Given the description of an element on the screen output the (x, y) to click on. 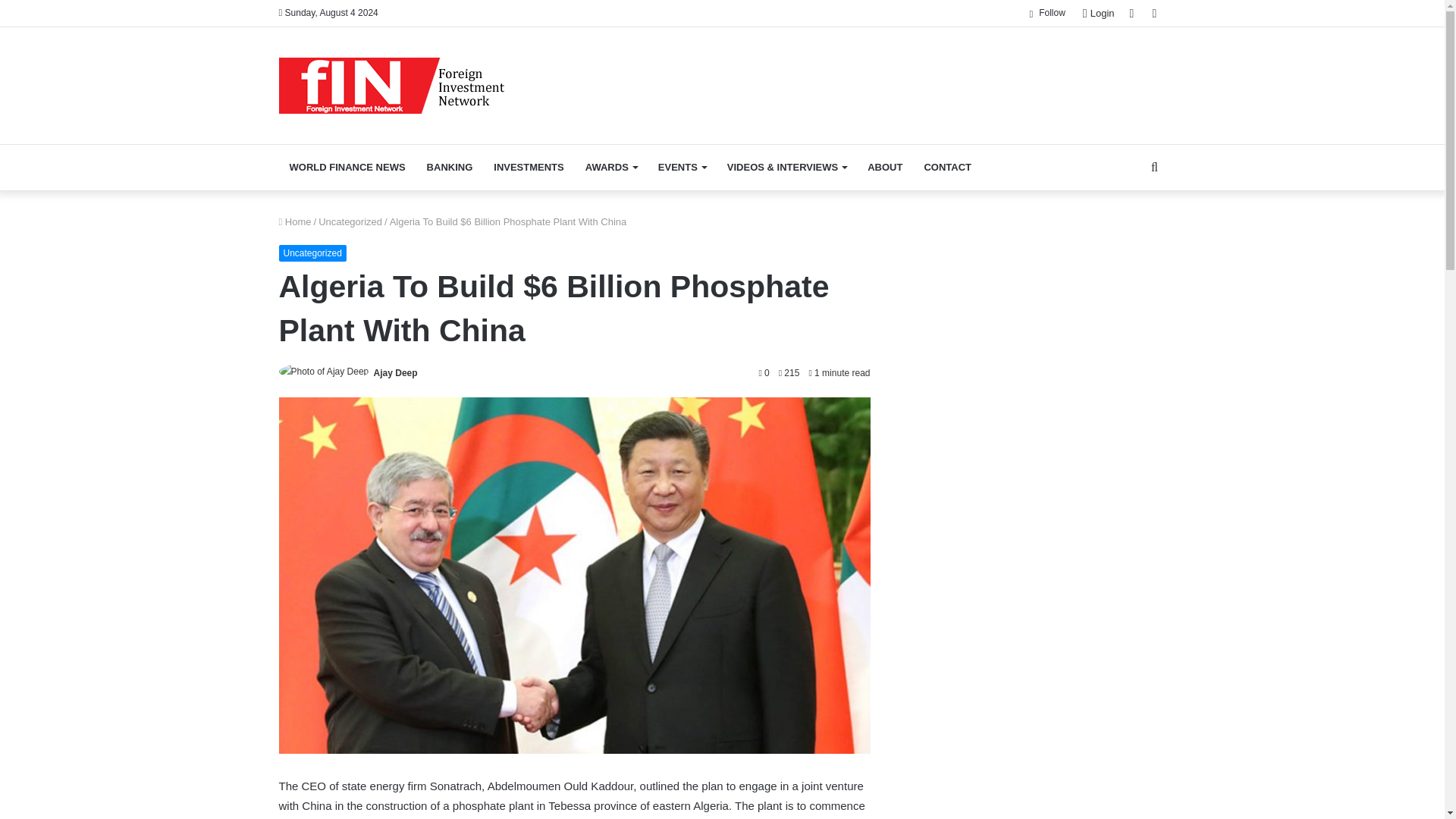
Uncategorized (349, 221)
Foreign Investment Network (392, 85)
CONTACT (946, 167)
INVESTMENTS (528, 167)
Uncategorized (312, 252)
Ajay Deep (395, 372)
EVENTS (681, 167)
WORLD FINANCE NEWS (347, 167)
Follow (1046, 13)
Ajay Deep (395, 372)
